Given the description of an element on the screen output the (x, y) to click on. 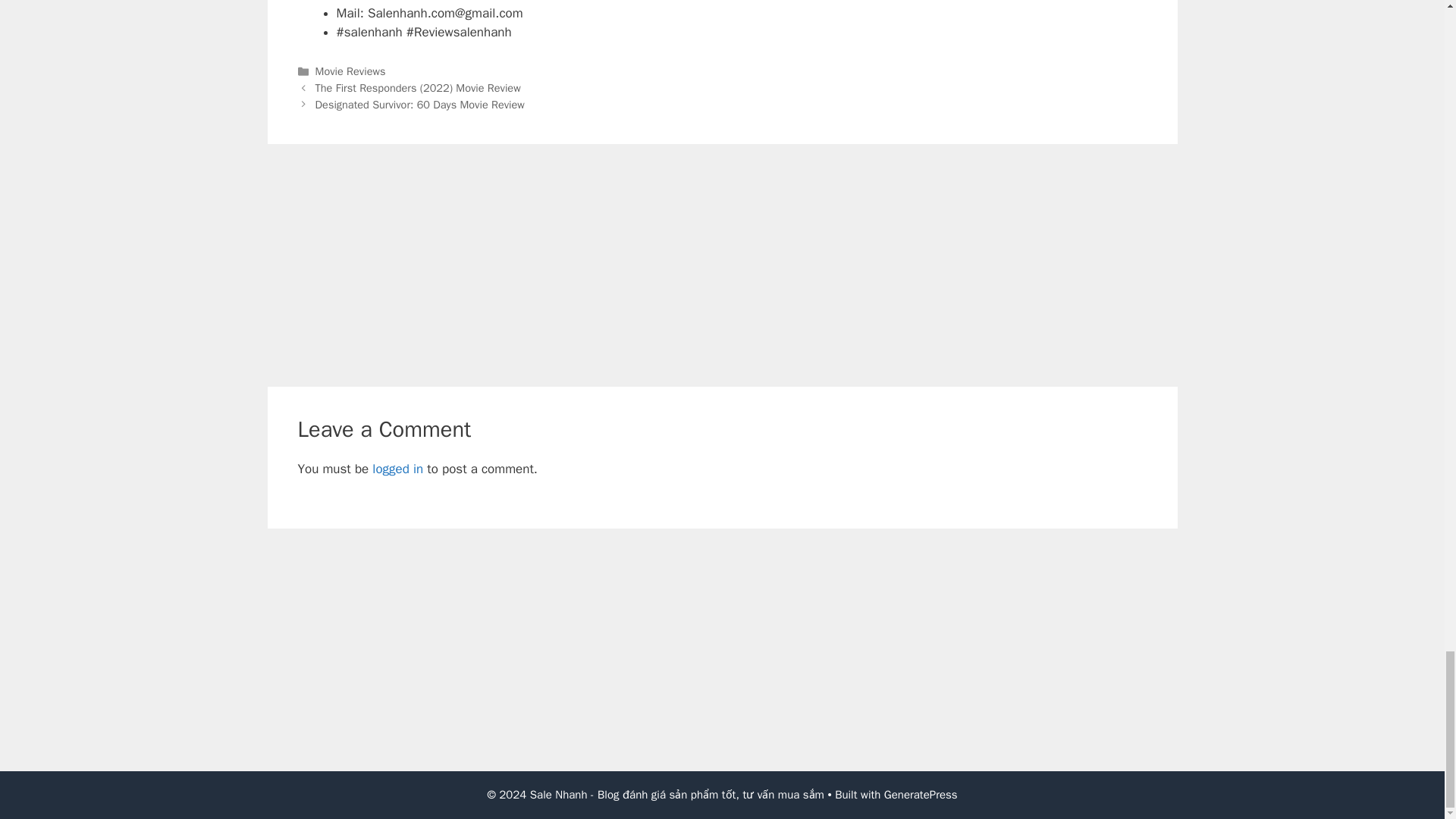
Movie Reviews (350, 70)
GeneratePress (920, 794)
logged in (397, 468)
Designated Survivor: 60 Days Movie Review (419, 104)
